Given the description of an element on the screen output the (x, y) to click on. 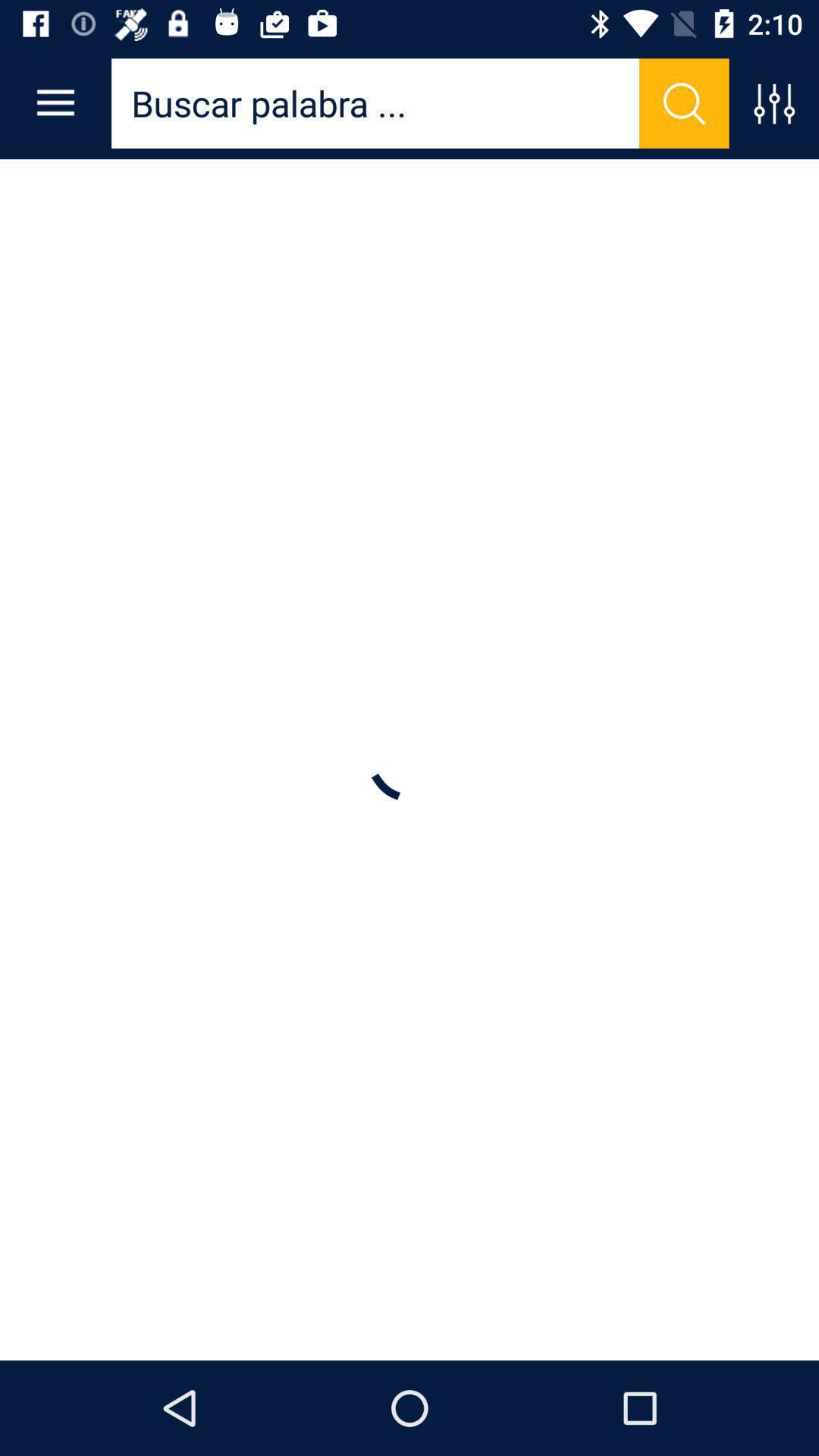
go to settings (774, 103)
